Given the description of an element on the screen output the (x, y) to click on. 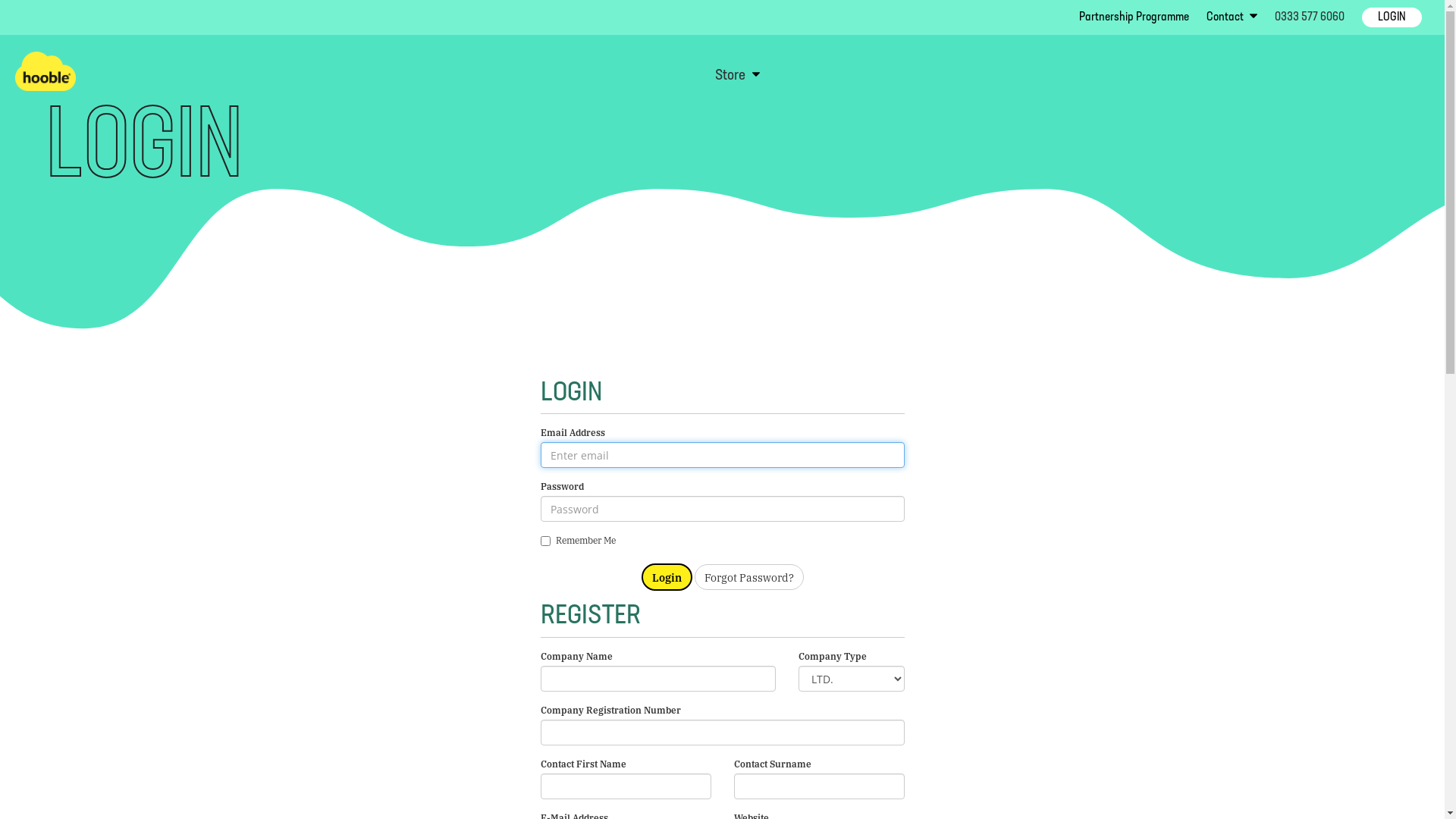
LOGIN Element type: text (1391, 15)
Login Element type: text (666, 576)
Forgot Password? Element type: text (748, 576)
Contact Element type: text (1225, 17)
Partnership Programme Element type: text (1134, 17)
